Given the description of an element on the screen output the (x, y) to click on. 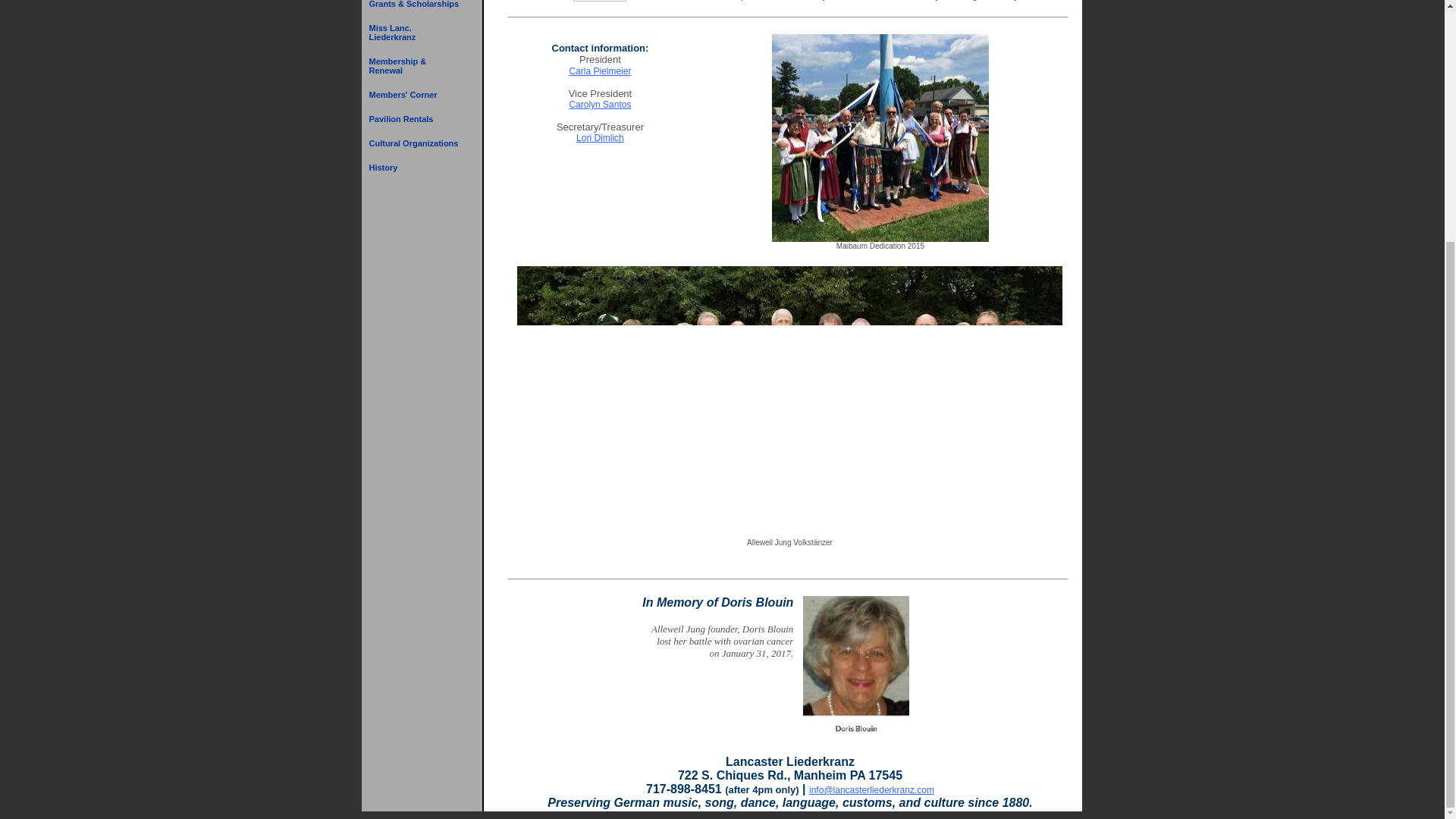
History (414, 167)
Cultural Organizations (414, 143)
Members' Corner (414, 94)
Lori Dimlich (600, 137)
Pavilion Rentals (414, 119)
Carla Pielmeier (599, 71)
Miss Lanc. Liederkranz (414, 32)
Carolyn Santos (599, 104)
